Given the description of an element on the screen output the (x, y) to click on. 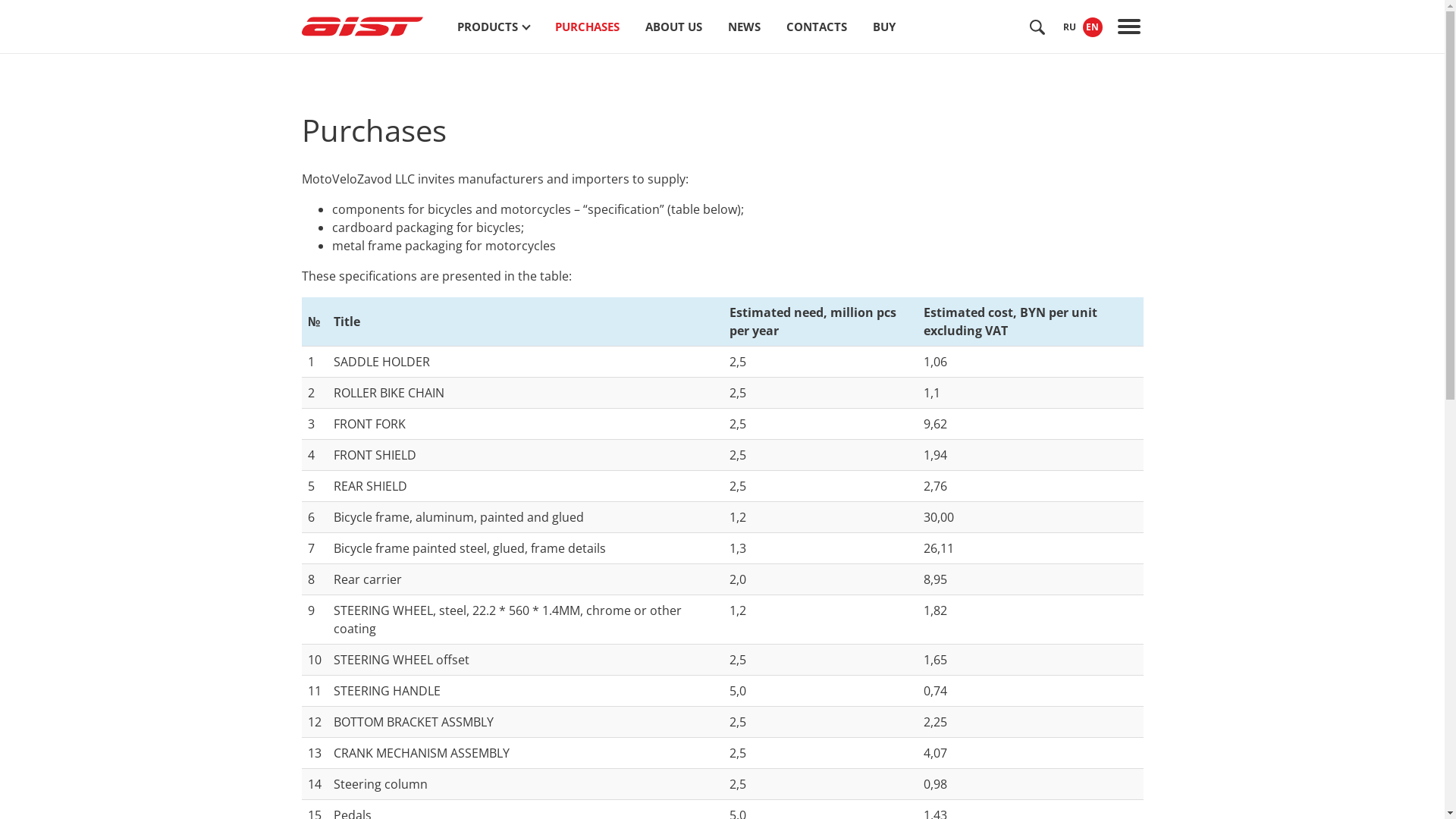
PURCHASES Element type: text (587, 26)
CONTACTS Element type: text (815, 26)
BUY Element type: text (883, 26)
PRODUCTS Element type: text (492, 26)
NEWS Element type: text (744, 26)
RU Element type: text (1069, 27)
ABOUT US Element type: text (672, 26)
EN Element type: text (1092, 27)
